Given the description of an element on the screen output the (x, y) to click on. 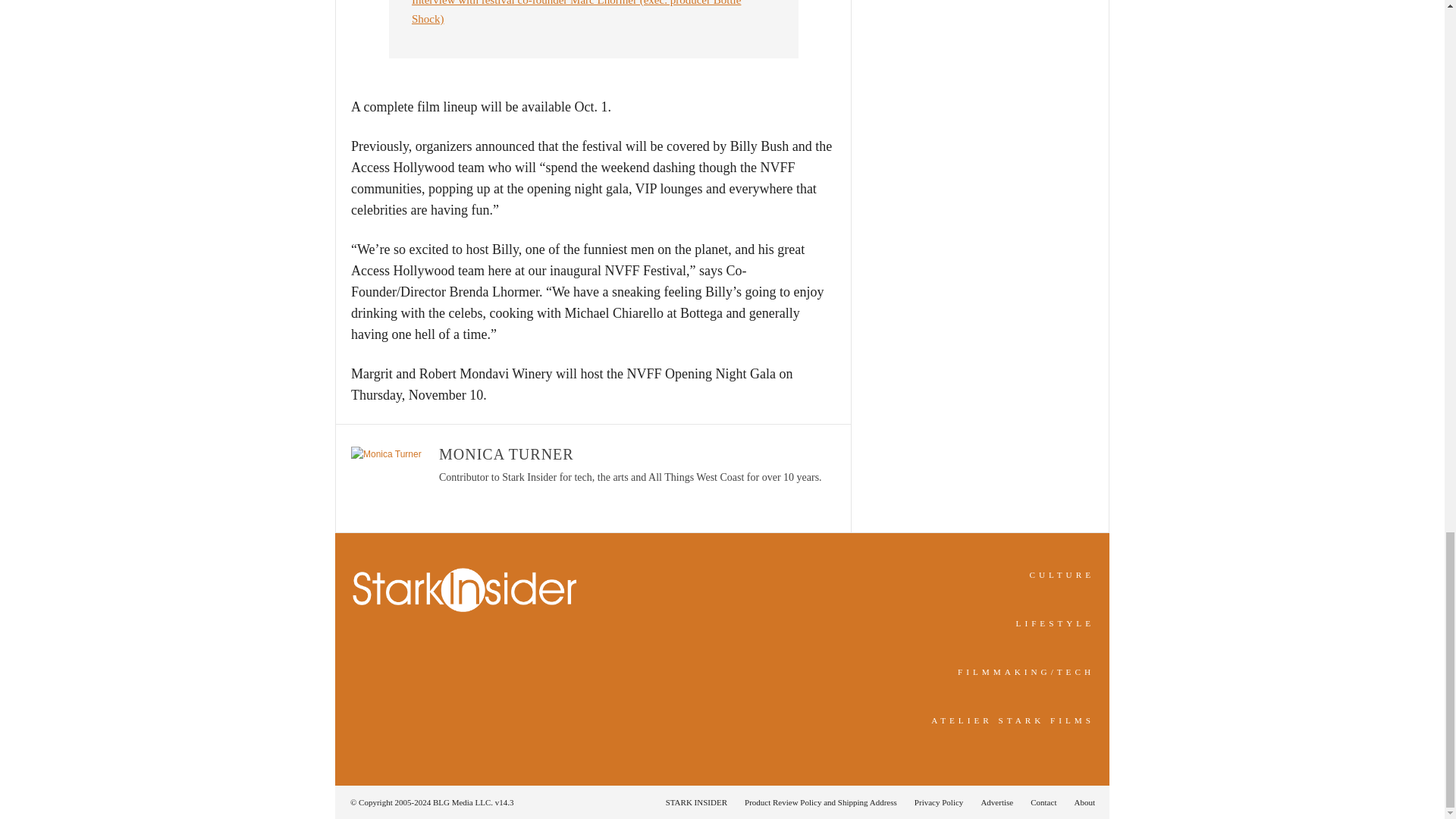
Product Review Policy and Shipping Address (820, 801)
STARK INSIDER (696, 801)
Advertise (996, 801)
MONICA TURNER (506, 453)
Contact (1043, 801)
LIFESTYLE (1055, 623)
ATELIER STARK FILMS (1012, 719)
Privacy Policy (939, 801)
CULTURE (1061, 574)
About (1079, 801)
